Given the description of an element on the screen output the (x, y) to click on. 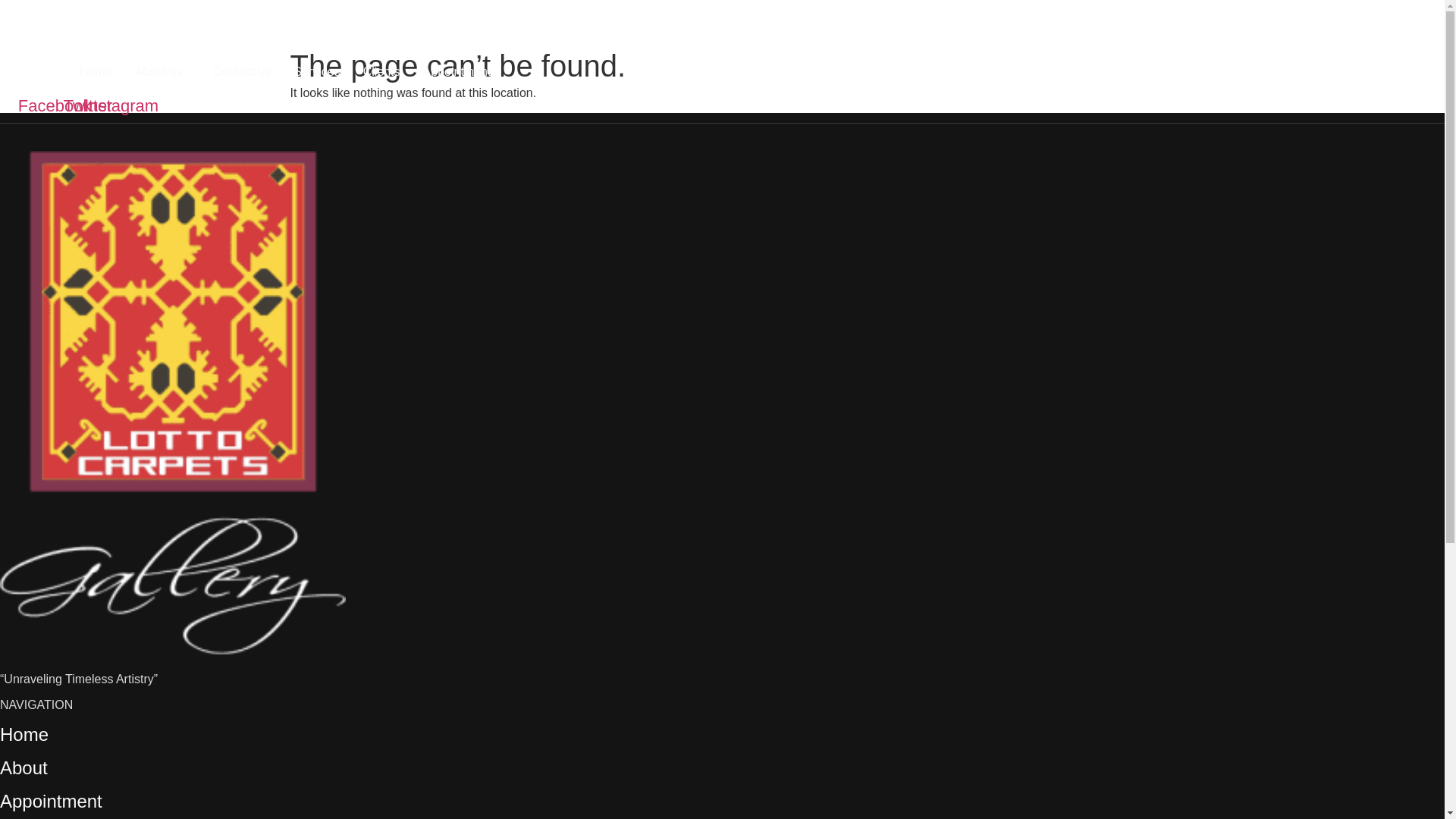
Services (316, 71)
Facebook (57, 105)
Instagram (124, 105)
Contact us (242, 71)
About (24, 767)
Home (24, 733)
Twitter (90, 105)
Clients (382, 71)
Appointment (50, 801)
Home (95, 71)
